Given the description of an element on the screen output the (x, y) to click on. 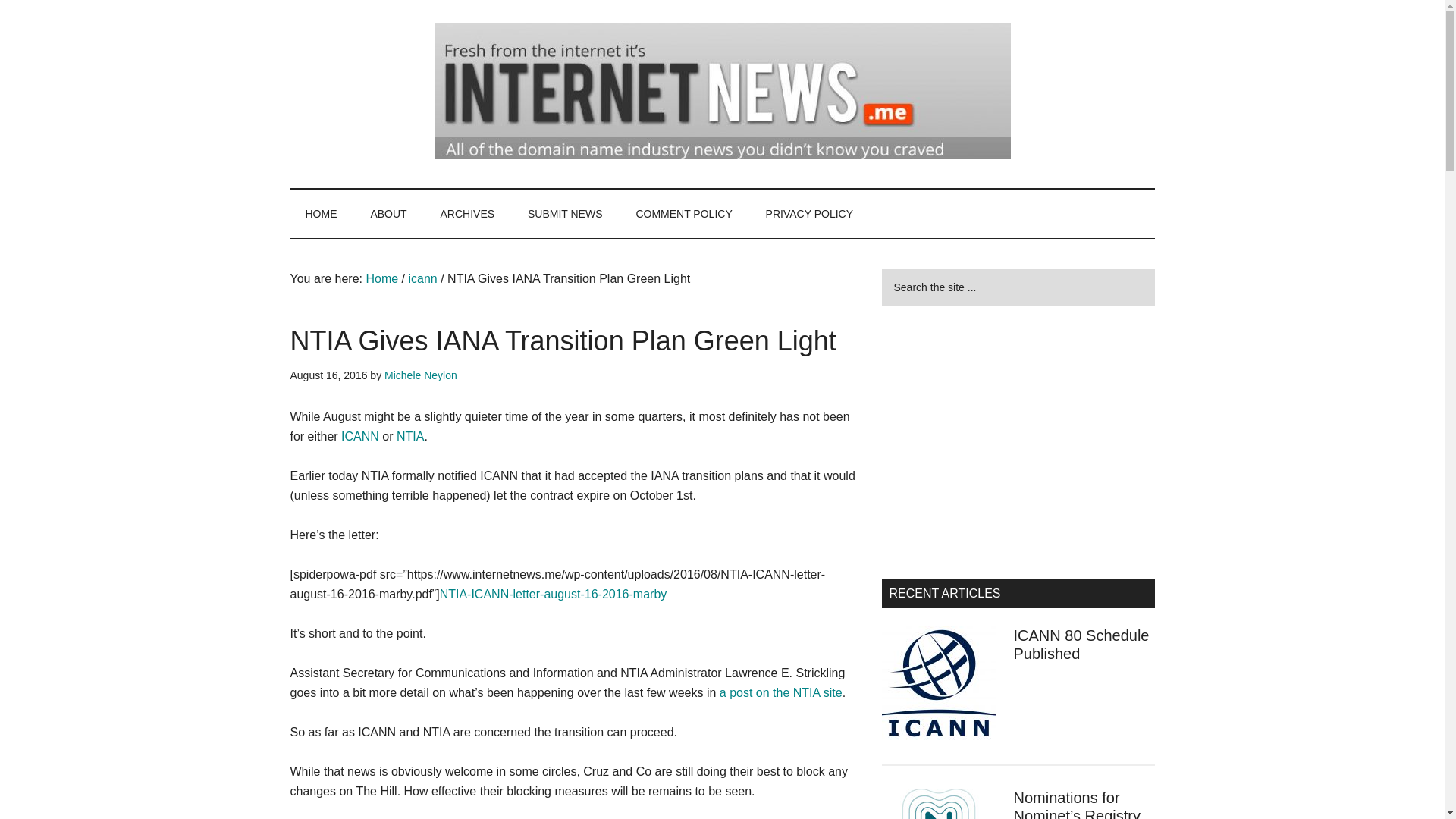
icann (421, 278)
COMMENT POLICY (683, 213)
SUBMIT NEWS (564, 213)
Michele Neylon (420, 375)
HOME (320, 213)
a post on the NTIA site (781, 692)
ICANN 80 Schedule Published (1080, 644)
PRIVACY POLICY (809, 213)
ICANN (359, 436)
ABOUT (388, 213)
Home (381, 278)
NTIA (409, 436)
Advertisement (1017, 441)
